Given the description of an element on the screen output the (x, y) to click on. 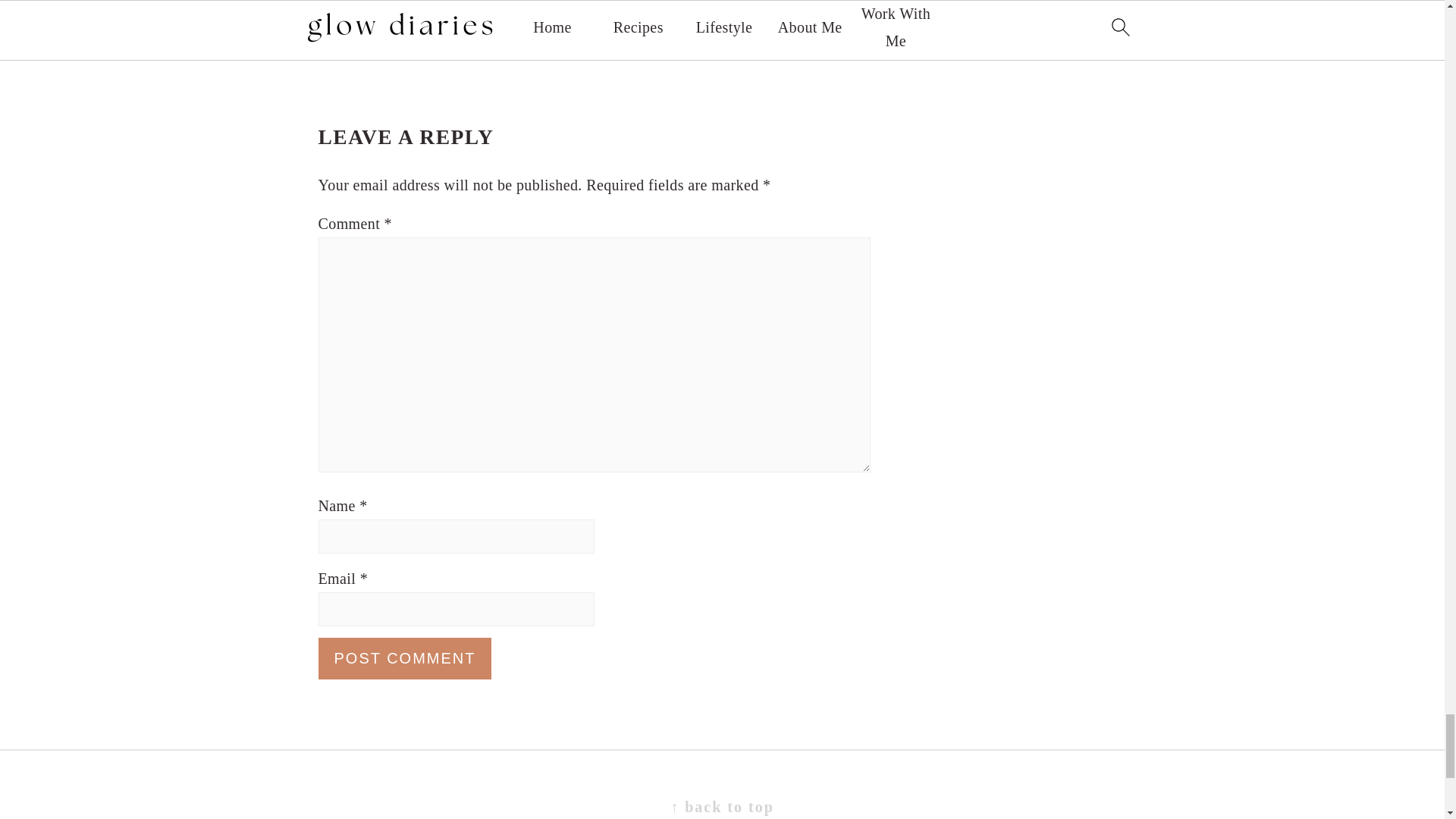
Post Comment (405, 638)
